Given the description of an element on the screen output the (x, y) to click on. 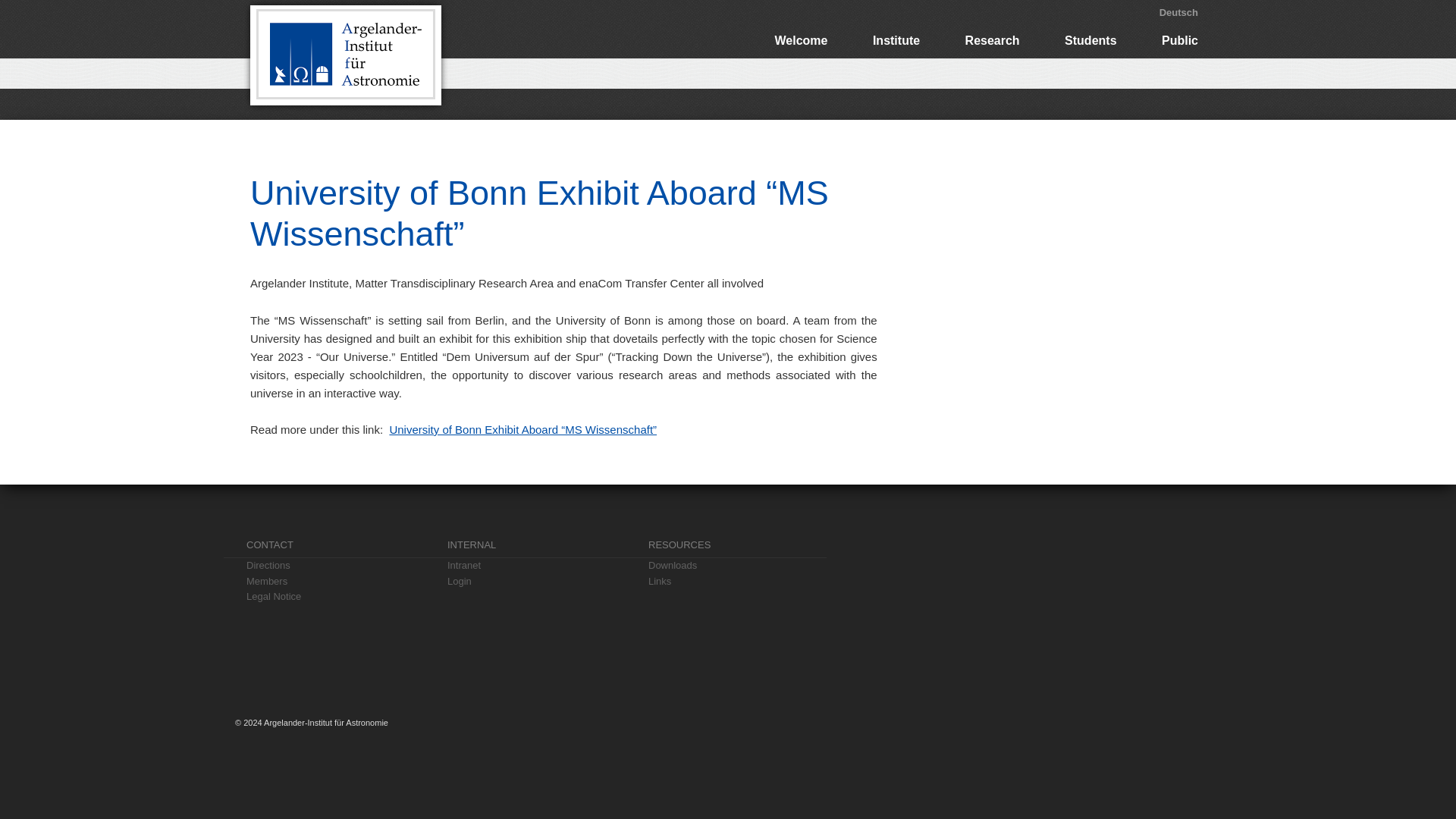
Public (1179, 40)
Institute (895, 40)
Welcome (801, 40)
Intranet (536, 565)
Members (334, 581)
Research (992, 40)
Links (737, 581)
Students (1090, 40)
Legal Notice (334, 596)
Deutsch (1178, 12)
